Given the description of an element on the screen output the (x, y) to click on. 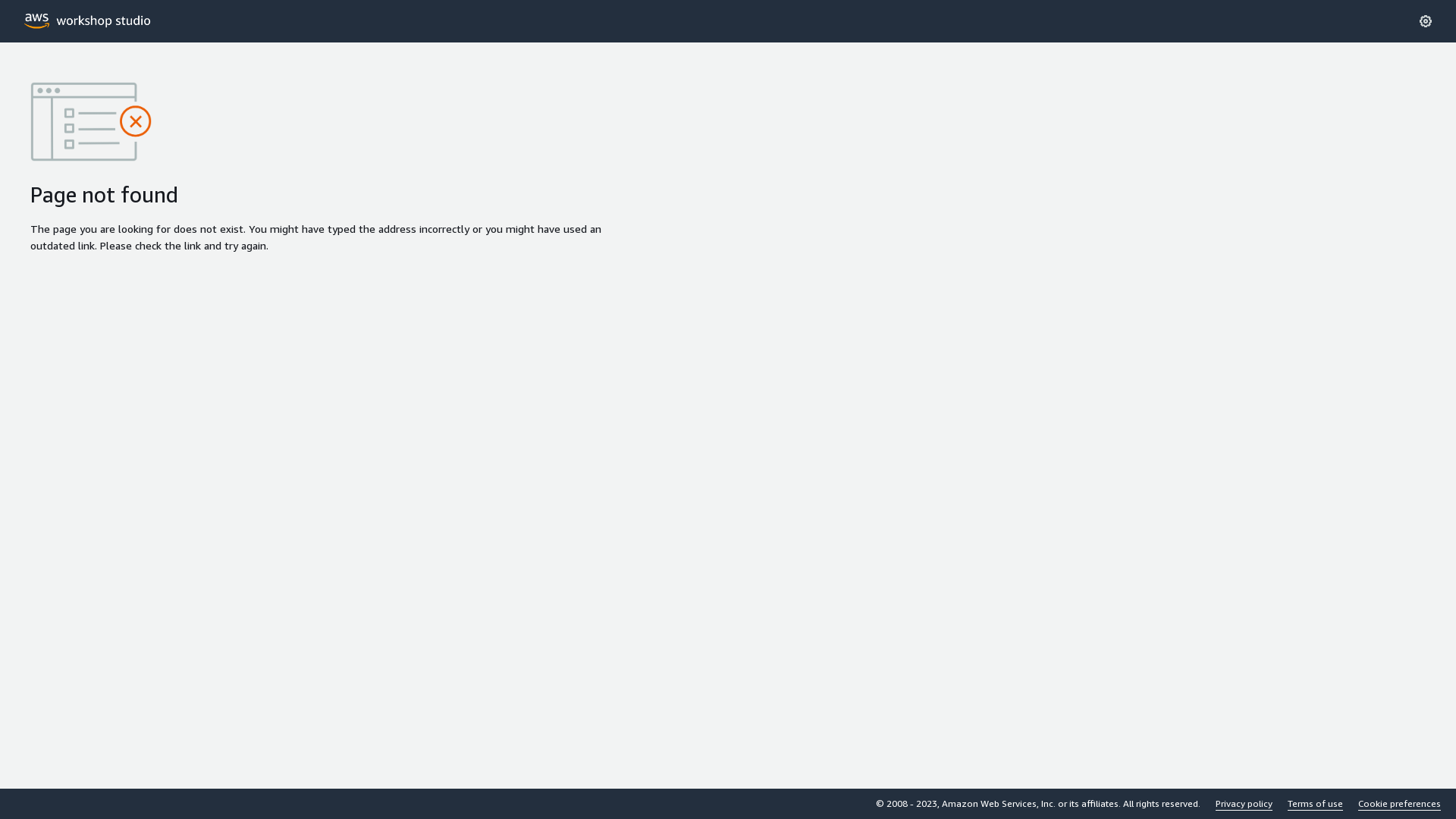
Cookie preferences Element type: text (1399, 803)
Privacy policy Element type: text (1243, 803)
Terms of use Element type: text (1315, 803)
